Given the description of an element on the screen output the (x, y) to click on. 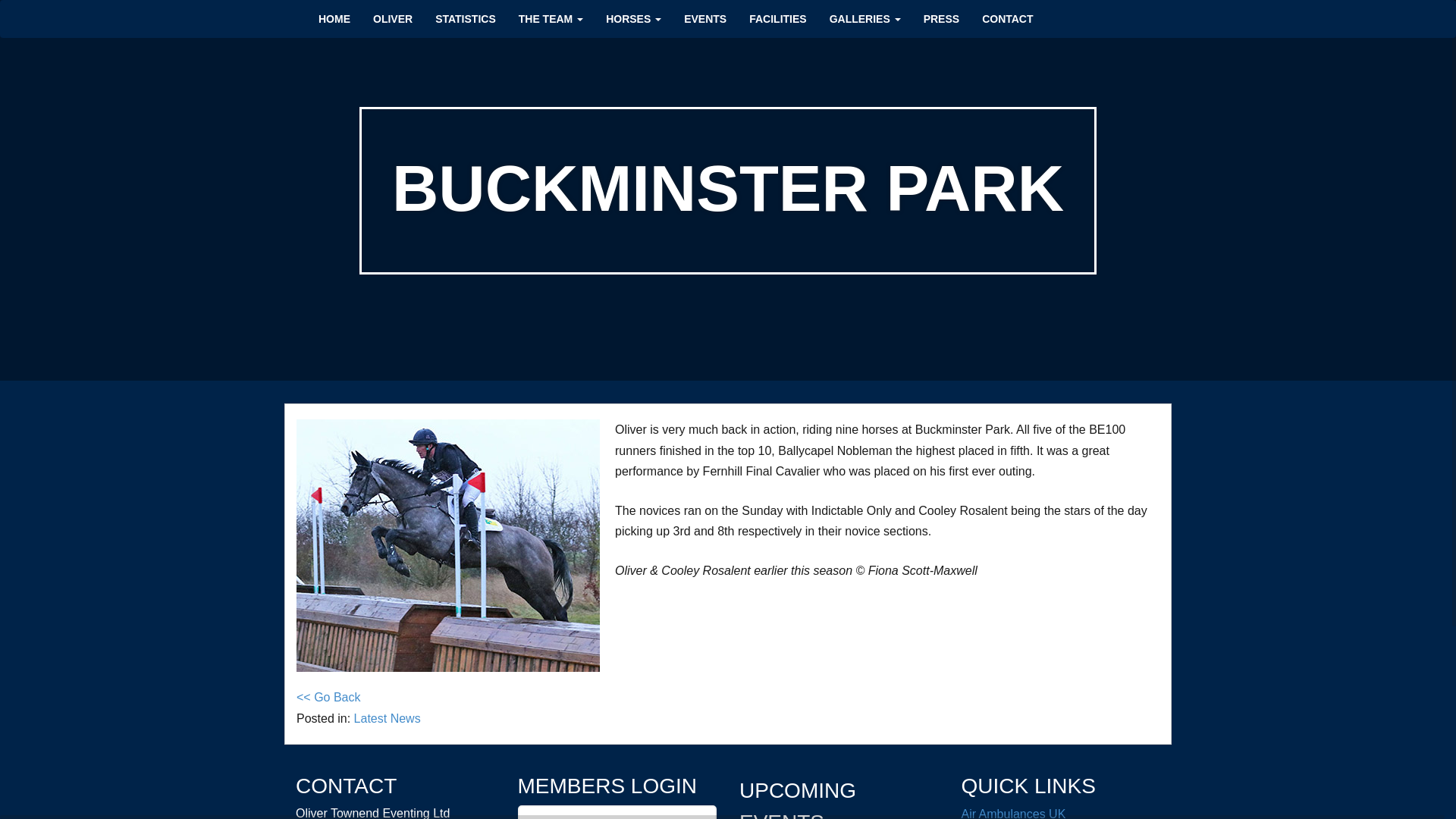
HORSES (633, 15)
Galleries (865, 15)
EVENTS (705, 15)
GALLERIES (865, 15)
STATISTICS (465, 15)
Facilities (777, 15)
Statistics (465, 15)
Latest News (386, 717)
The Team (551, 15)
Home (334, 15)
THE TEAM (551, 15)
PRESS (940, 15)
CONTACT (1007, 15)
Events (705, 15)
FACILITIES (777, 15)
